Given the description of an element on the screen output the (x, y) to click on. 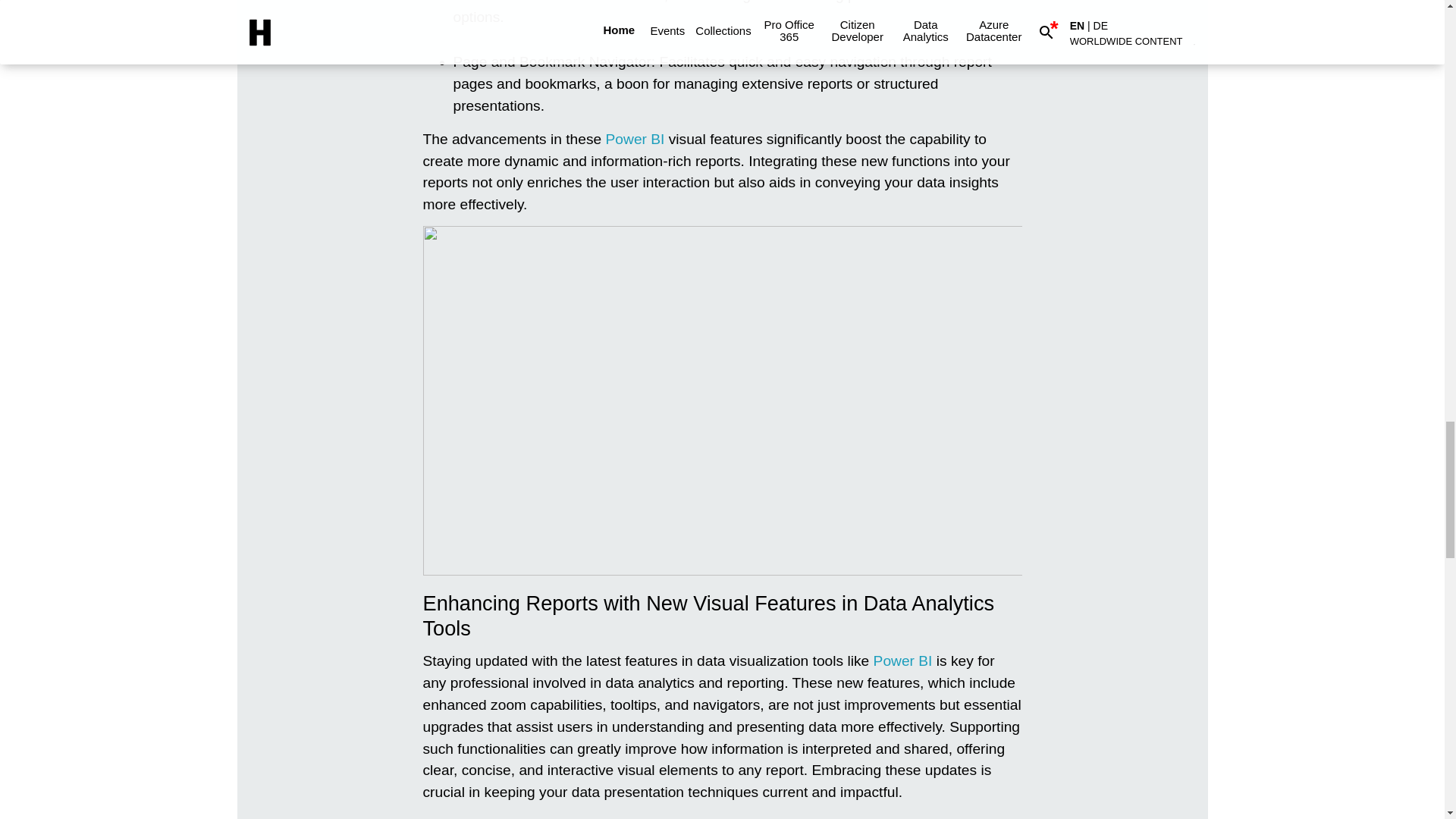
Power BI (635, 139)
Power BI (903, 660)
Power BI (903, 660)
Power BI (635, 139)
